Given the description of an element on the screen output the (x, y) to click on. 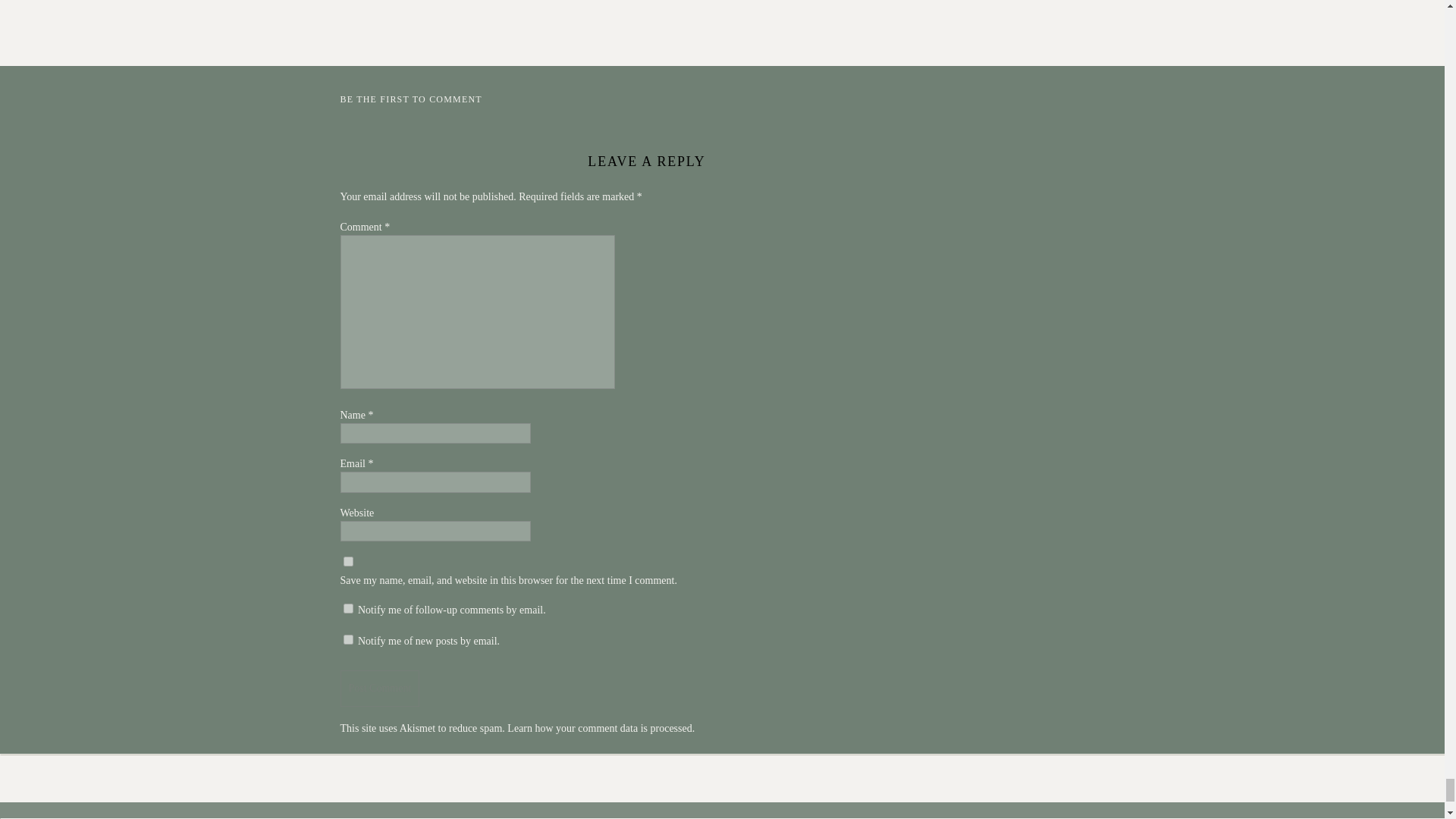
Post Comment (379, 687)
Learn how your comment data is processed (598, 727)
subscribe (347, 608)
yes (347, 561)
Post Comment (379, 687)
subscribe (347, 639)
BE THE FIRST TO COMMENT (410, 99)
